Given the description of an element on the screen output the (x, y) to click on. 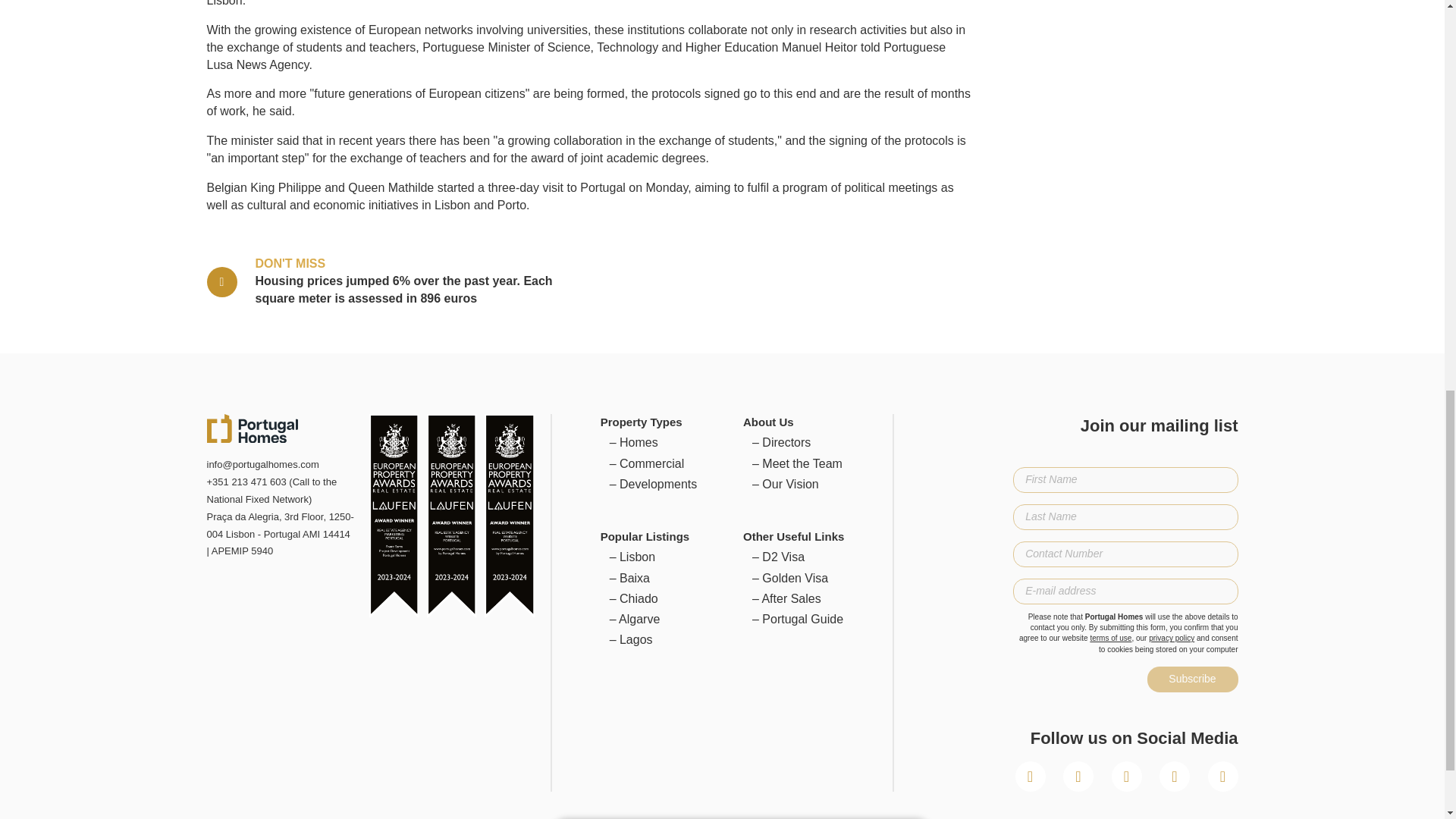
Submit now (740, 355)
Subscribe (1192, 679)
1 (571, 414)
